Given the description of an element on the screen output the (x, y) to click on. 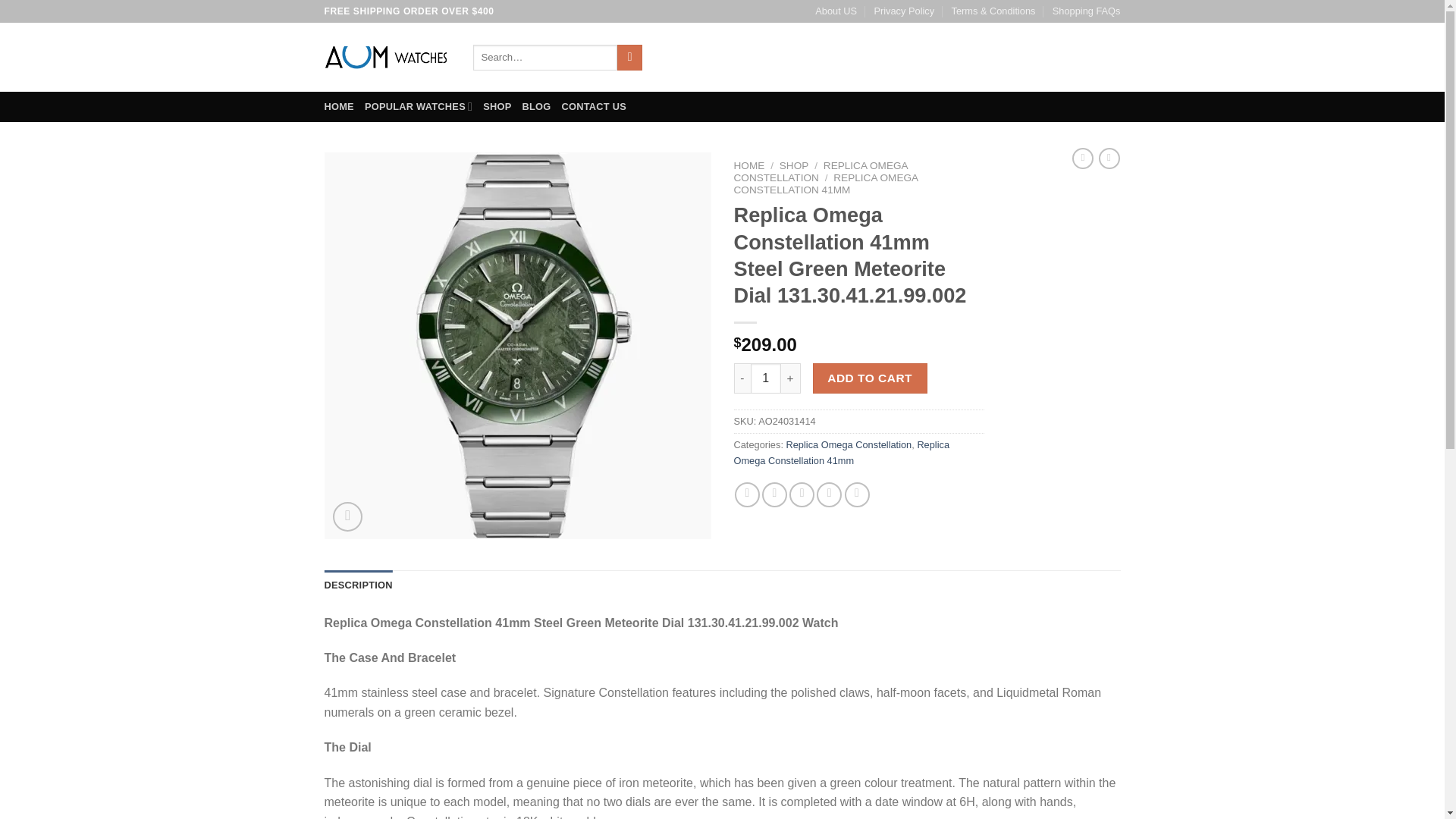
SHOP (497, 106)
HOME (749, 165)
HOME (338, 106)
Search (629, 57)
Cart (1067, 57)
POPULAR WATCHES (418, 106)
BLOG (536, 106)
SHOP (793, 165)
Login (979, 57)
CONTACT US (594, 106)
About US (836, 11)
Shopping FAQs (1086, 11)
Zoom (347, 516)
Share on LinkedIn (856, 494)
Replica Omega Constellation (848, 444)
